Given the description of an element on the screen output the (x, y) to click on. 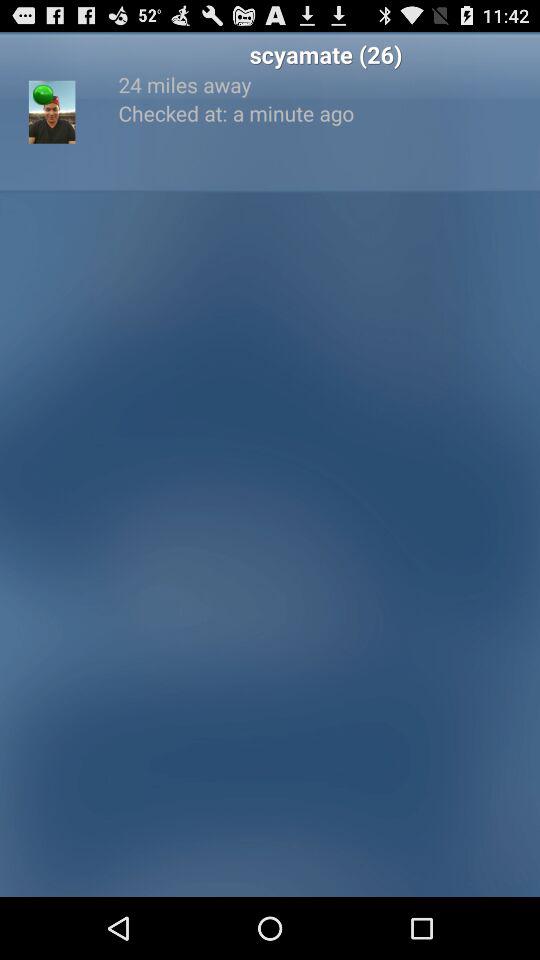
turn off the scyamate (26) app (325, 54)
